Given the description of an element on the screen output the (x, y) to click on. 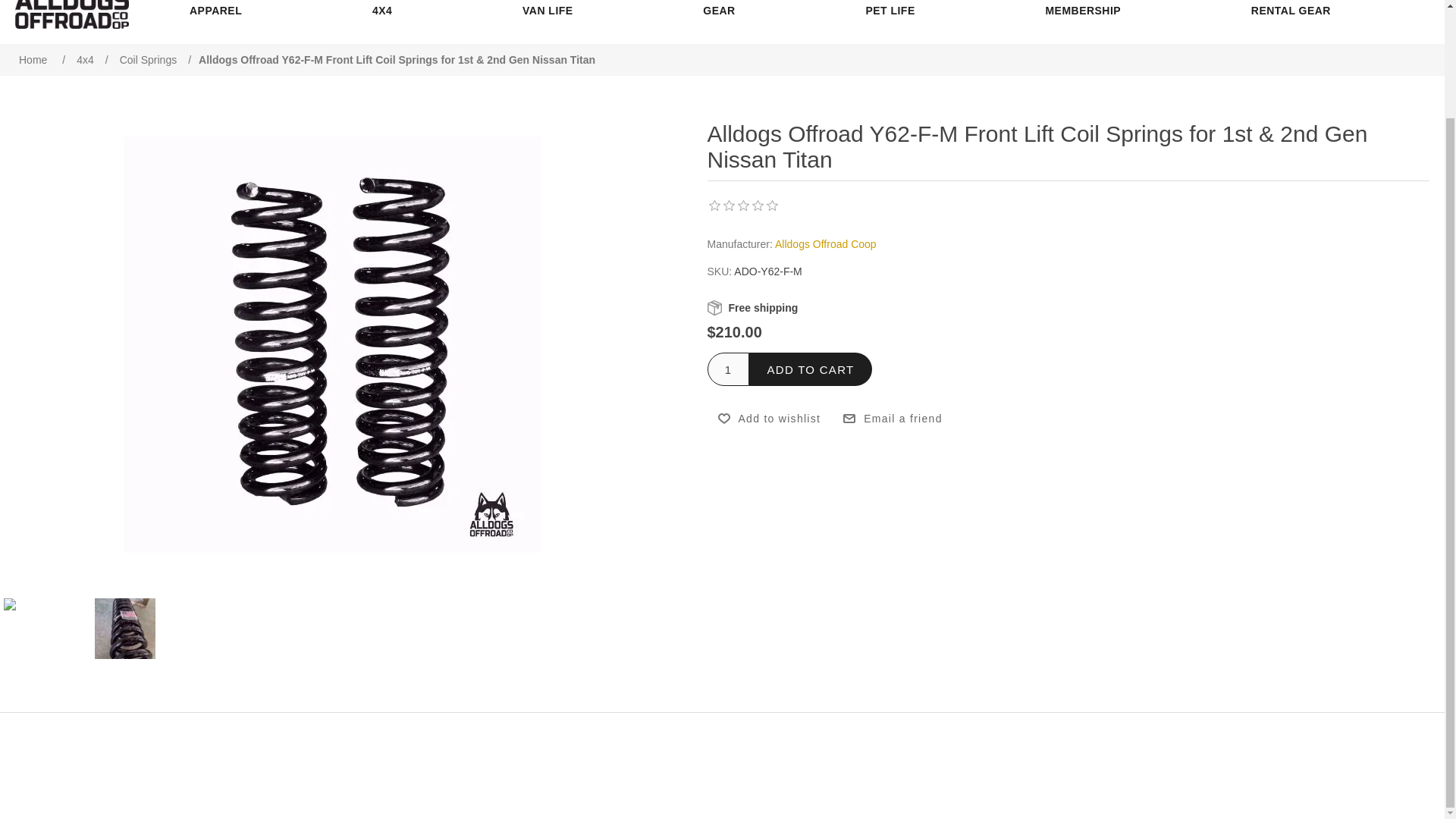
VAN LIFE (547, 10)
APPAREL (215, 10)
1 (727, 368)
MEMBERSHIP (1083, 10)
4X4 (381, 10)
PET LIFE (889, 10)
GEAR (719, 10)
RENTAL GEAR (1290, 10)
